Given the description of an element on the screen output the (x, y) to click on. 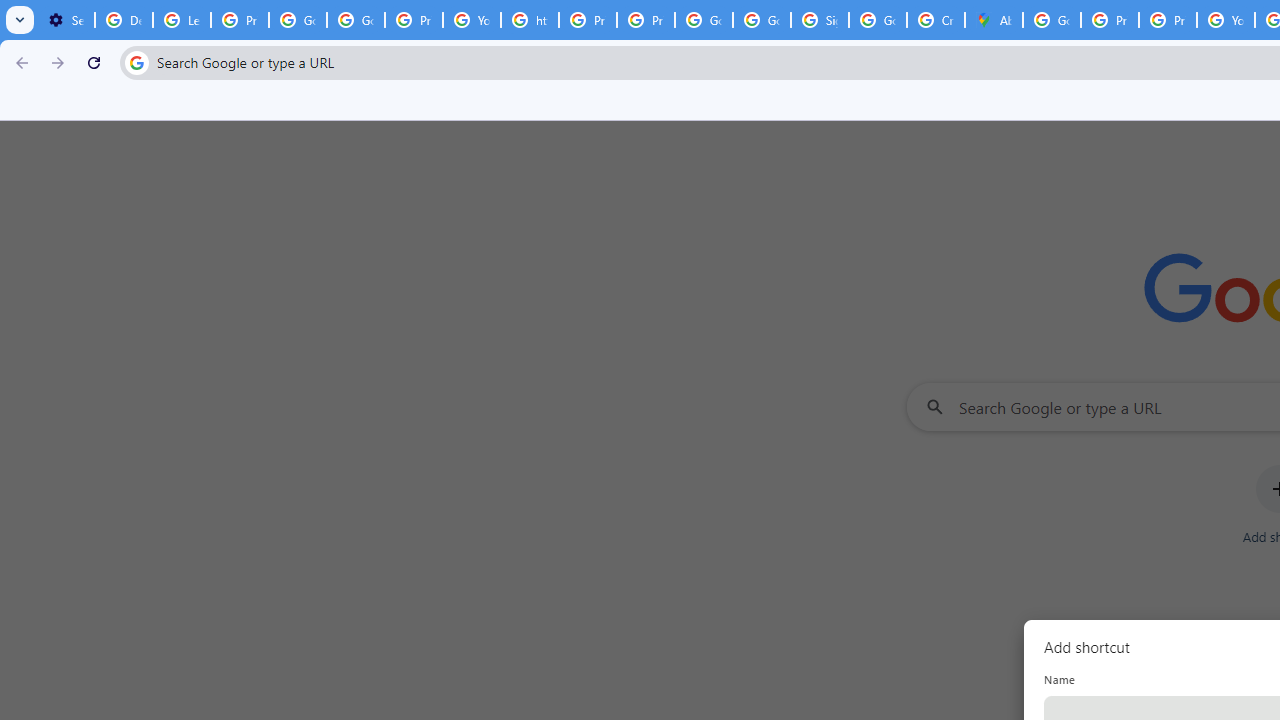
Delete photos & videos - Computer - Google Photos Help (123, 20)
YouTube (471, 20)
Settings - On startup (65, 20)
Privacy Help Center - Policies Help (587, 20)
